Given the description of an element on the screen output the (x, y) to click on. 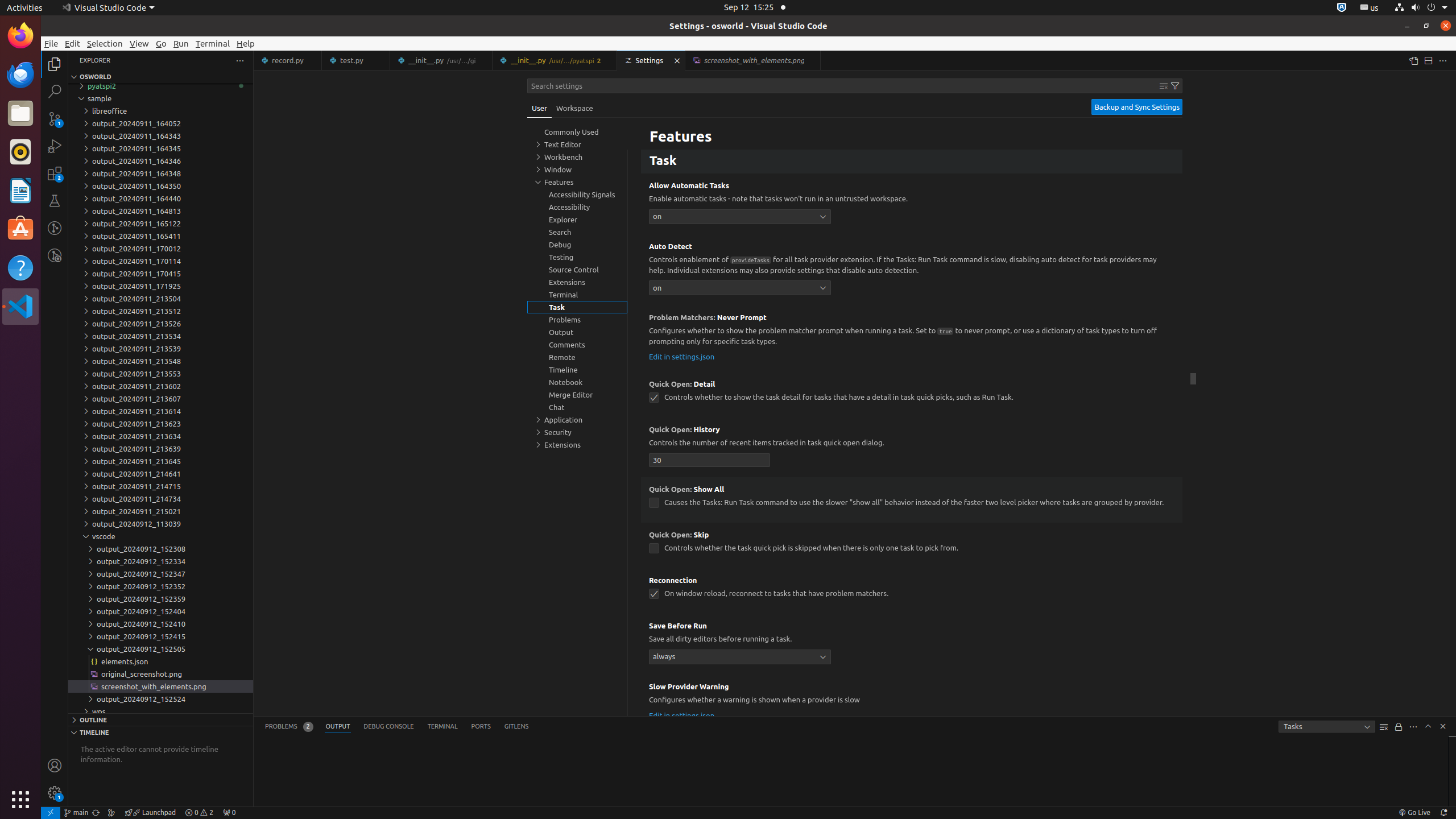
output_20240911_165122 Element type: tree-item (160, 223)
task.quickOpen.skip Element type: check-box (653, 548)
Filter Settings Element type: push-button (1174, 85)
output_20240912_152347 Element type: tree-item (160, 573)
